Given the description of an element on the screen output the (x, y) to click on. 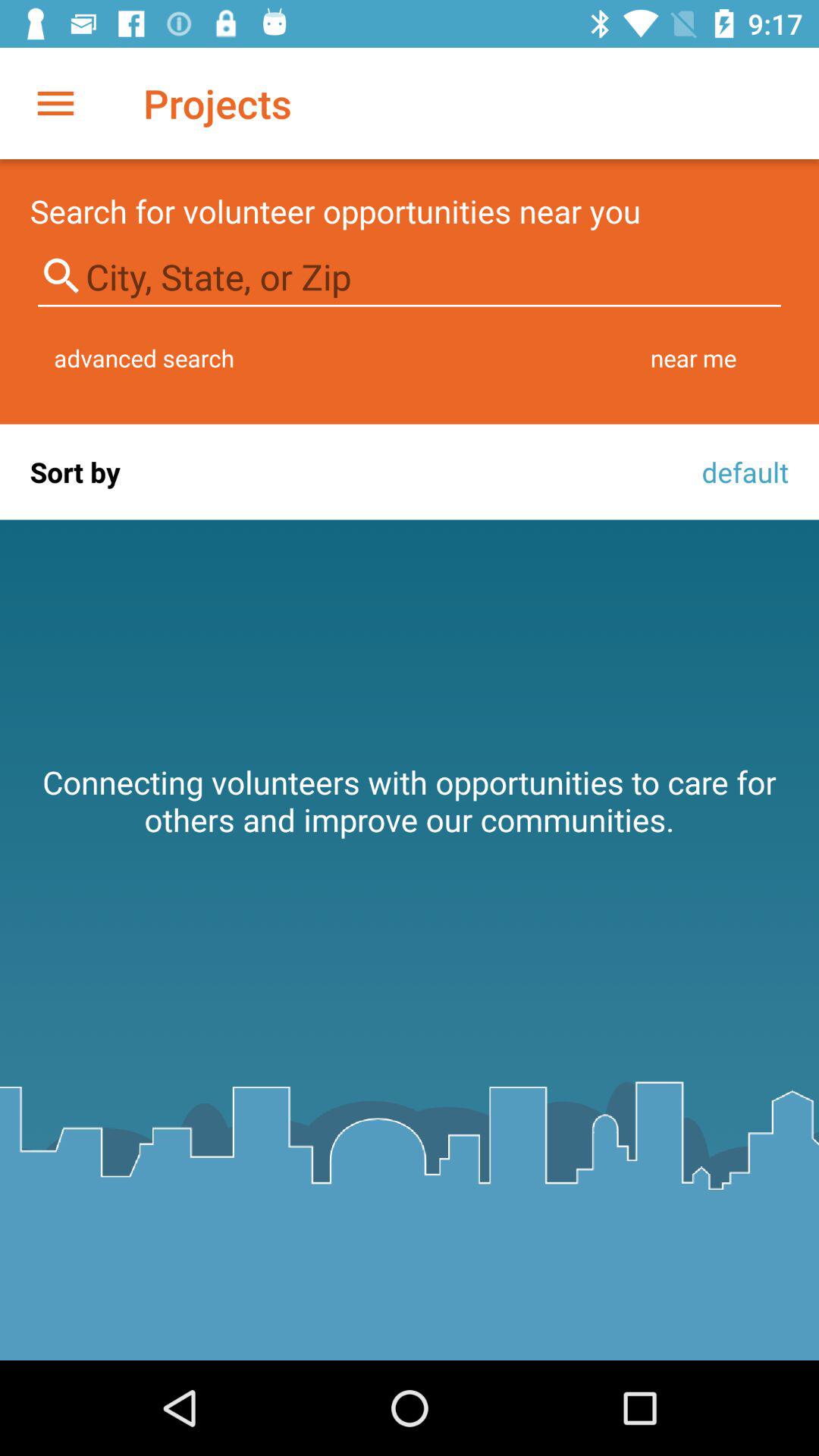
turn off the icon to the right of the advanced search item (692, 358)
